Given the description of an element on the screen output the (x, y) to click on. 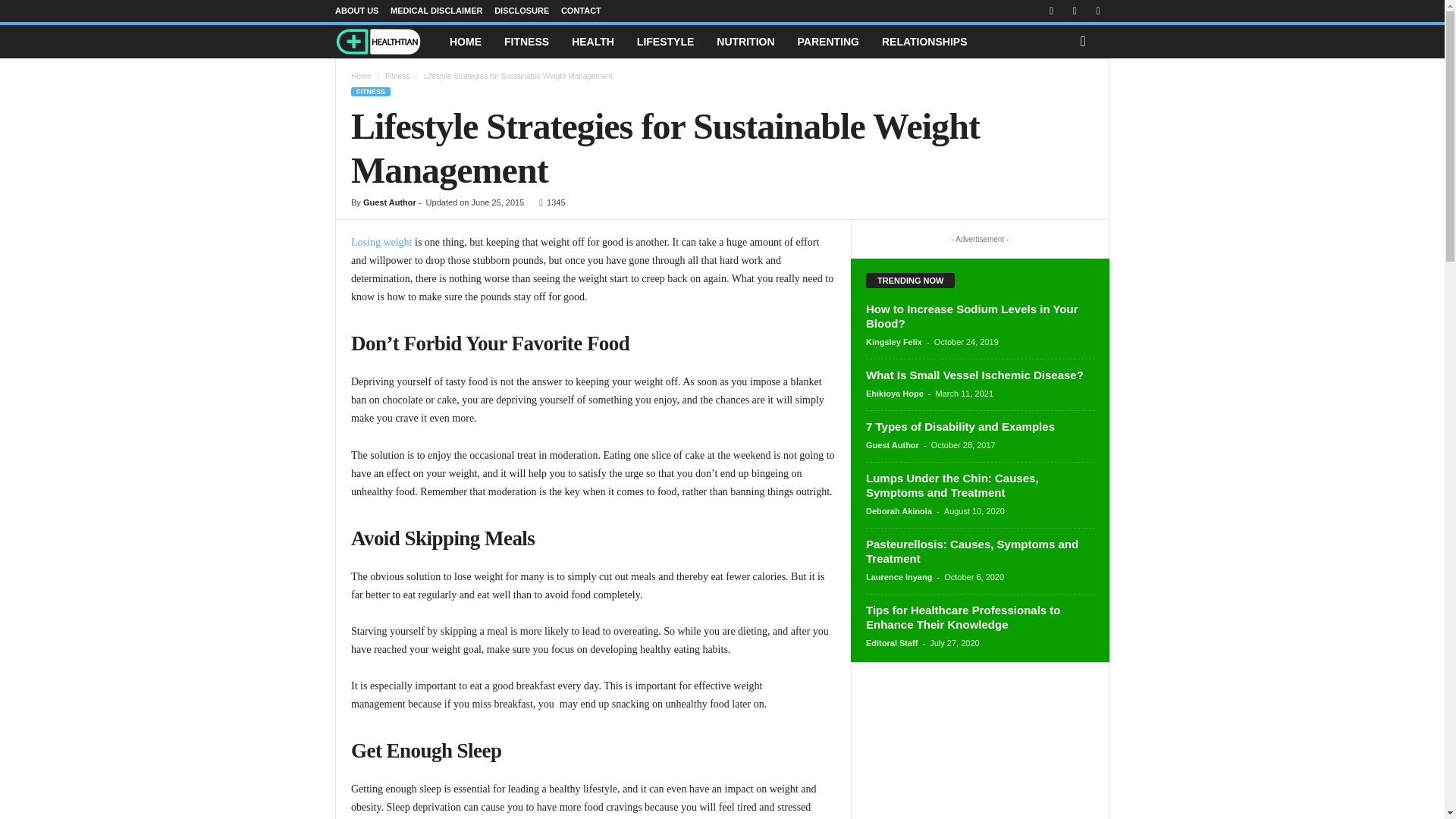
Losing weight (381, 242)
PARENTING (828, 41)
CONTACT (580, 10)
Home (360, 76)
RELATIONSHIPS (924, 41)
FITNESS (526, 41)
HEALTH (593, 41)
Healthtian (386, 41)
HOME (465, 41)
Guest Author (389, 202)
Fitness (397, 76)
DISCLOSURE (521, 10)
NUTRITION (745, 41)
LIFESTYLE (665, 41)
View all posts in Fitness (397, 76)
